Given the description of an element on the screen output the (x, y) to click on. 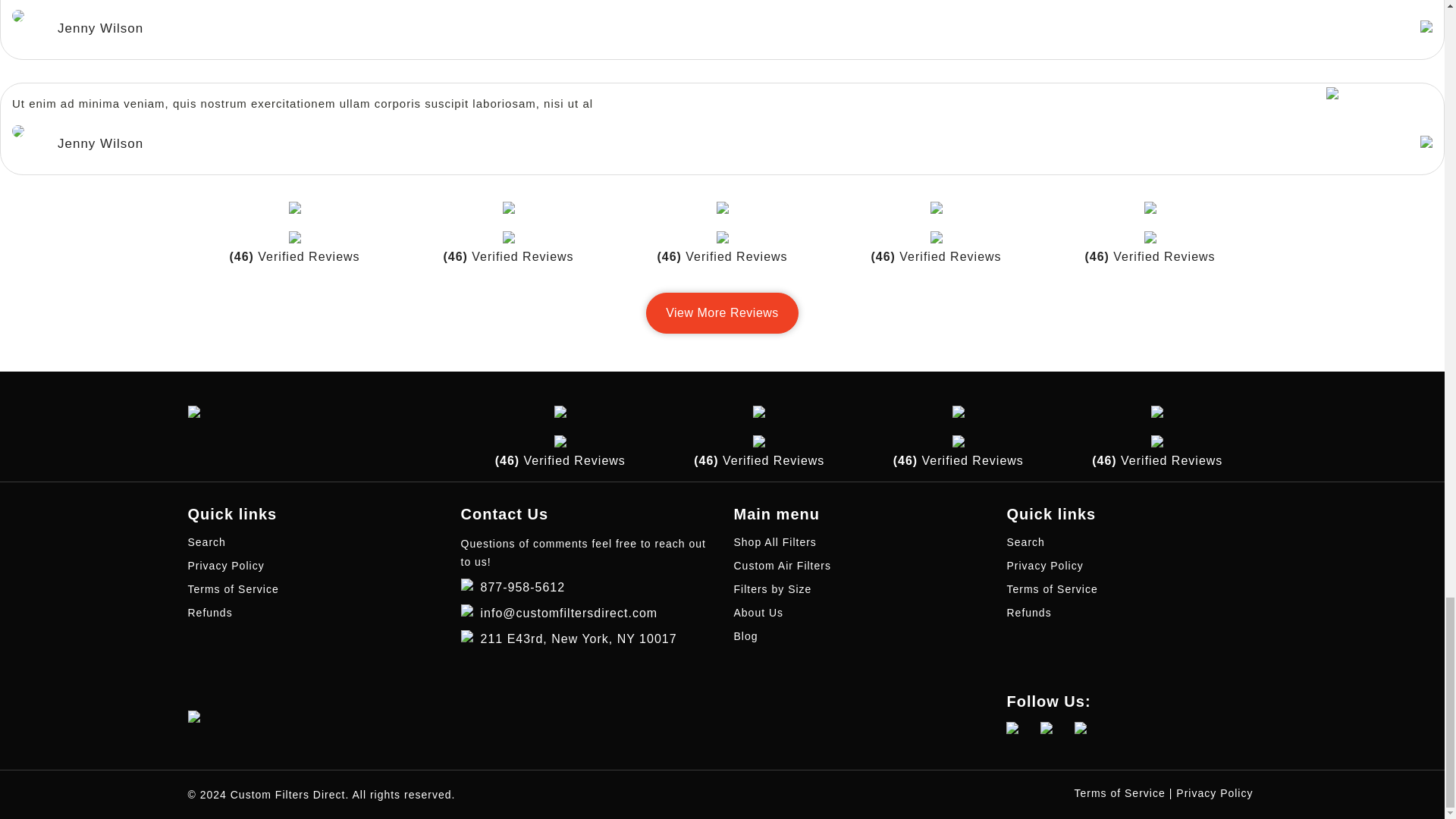
Custom Air Filters (782, 565)
Filters by Size (772, 589)
Search (206, 541)
Refunds (209, 612)
Shop All Filters (774, 541)
Terms of Service (233, 589)
Privacy Policy (225, 565)
View More Reviews (721, 312)
